Given the description of an element on the screen output the (x, y) to click on. 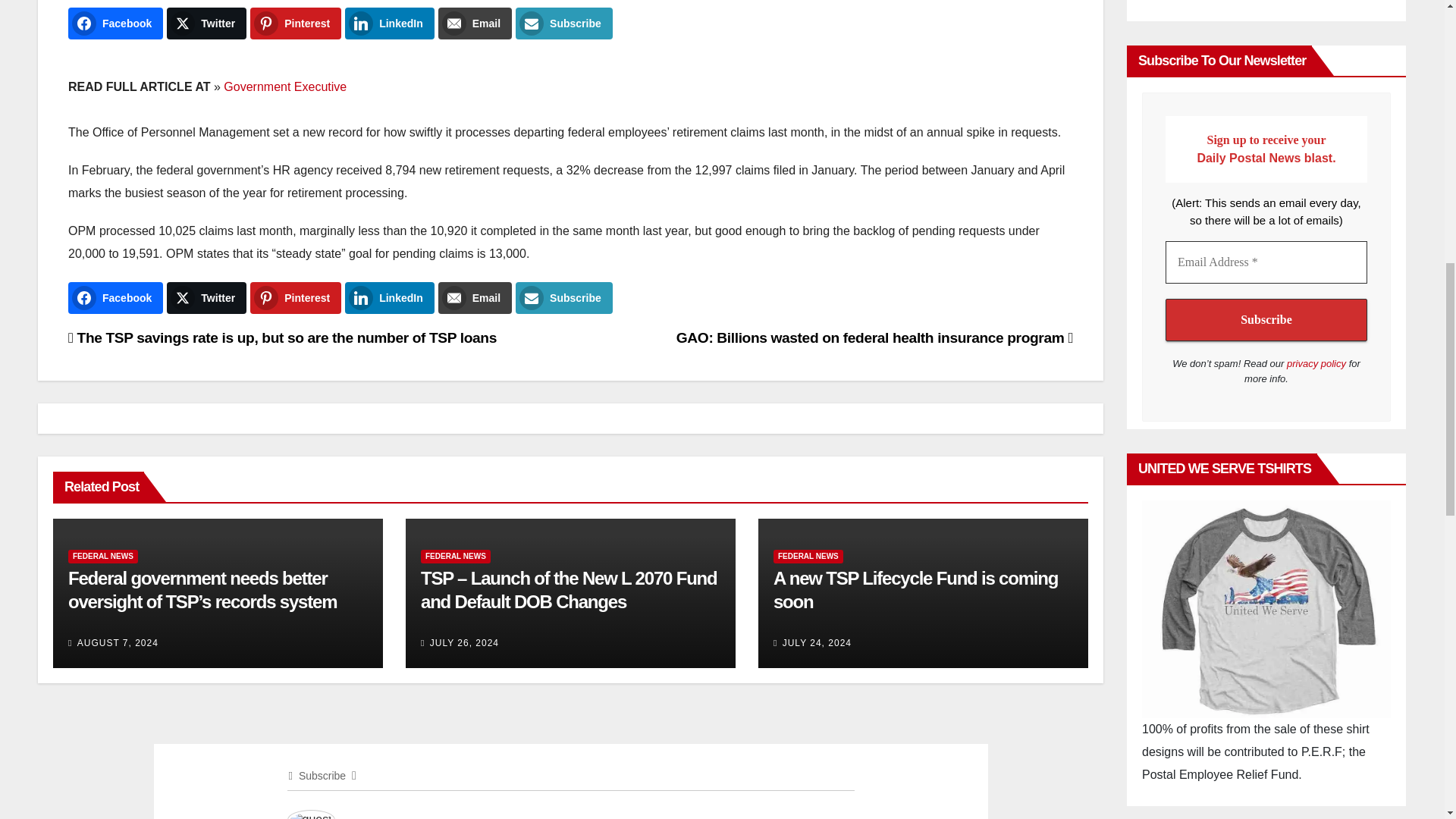
Share on Pinterest (295, 23)
Email (475, 297)
Subscribe (563, 297)
FEDERAL NEWS (103, 556)
Pinterest (295, 23)
Subscribe (563, 23)
Email (475, 23)
Twitter (206, 23)
LinkedIn (389, 297)
LinkedIn (389, 23)
